Given the description of an element on the screen output the (x, y) to click on. 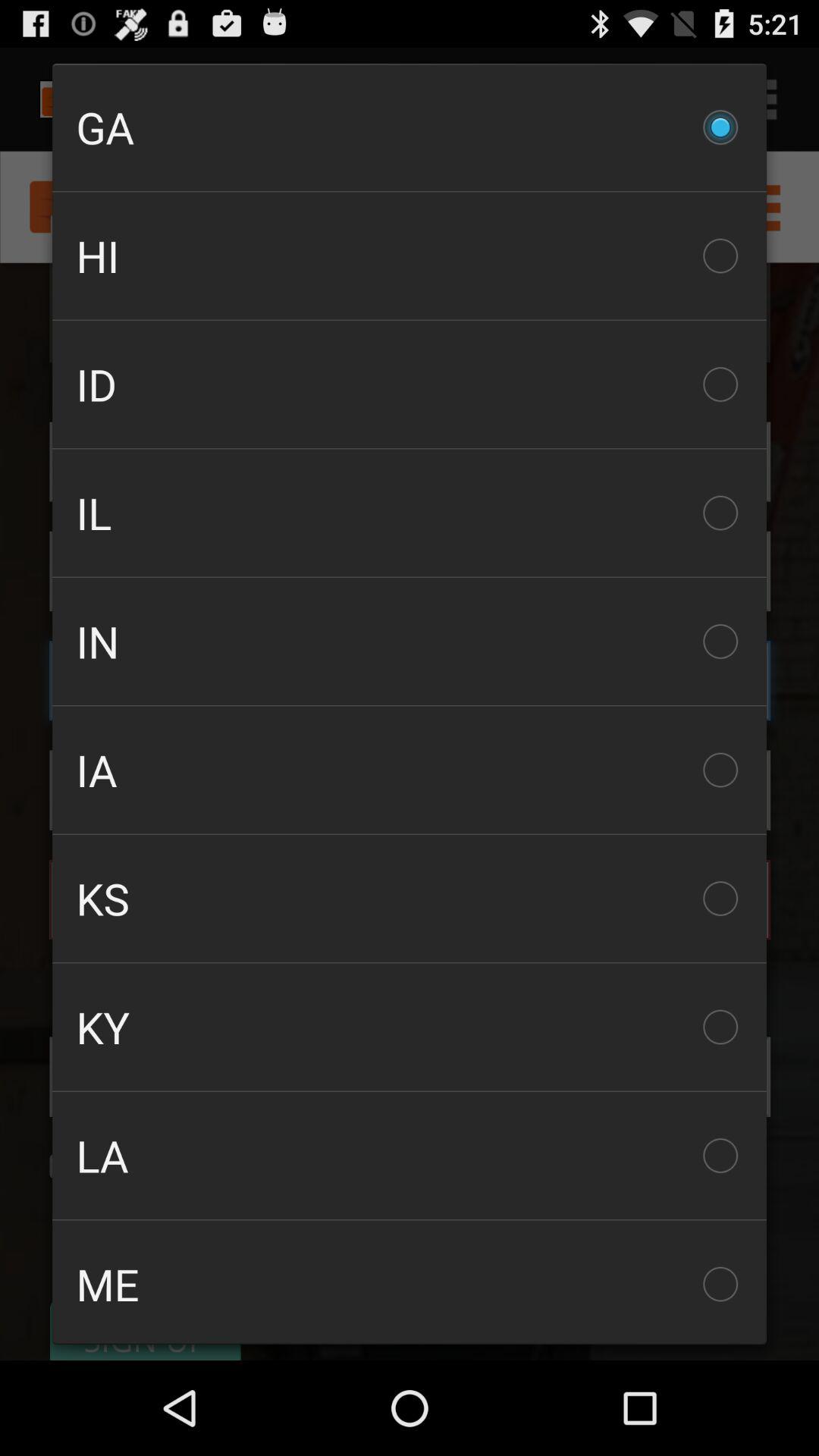
flip to the ga checkbox (409, 127)
